Given the description of an element on the screen output the (x, y) to click on. 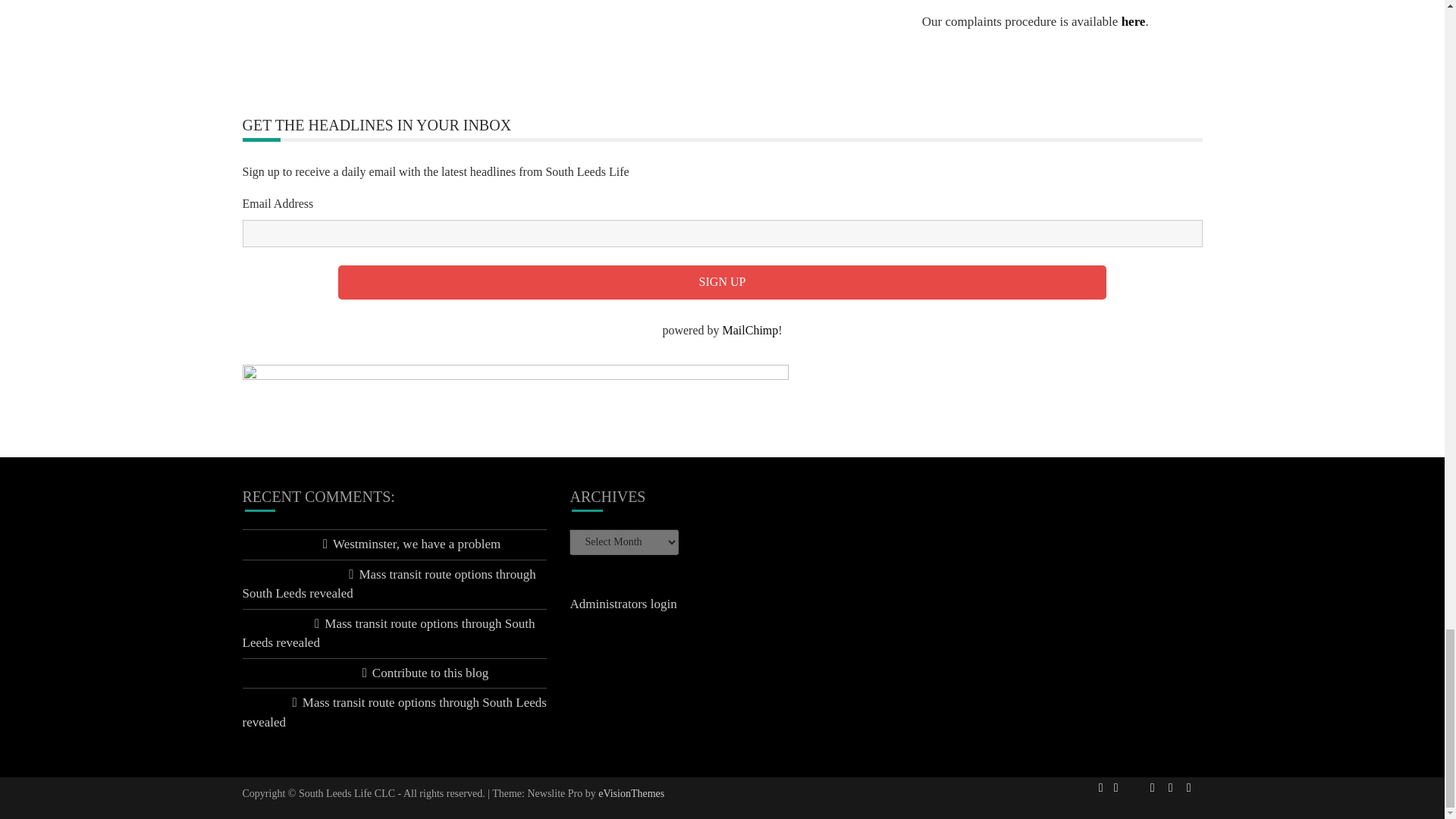
Sign up (721, 282)
